Given the description of an element on the screen output the (x, y) to click on. 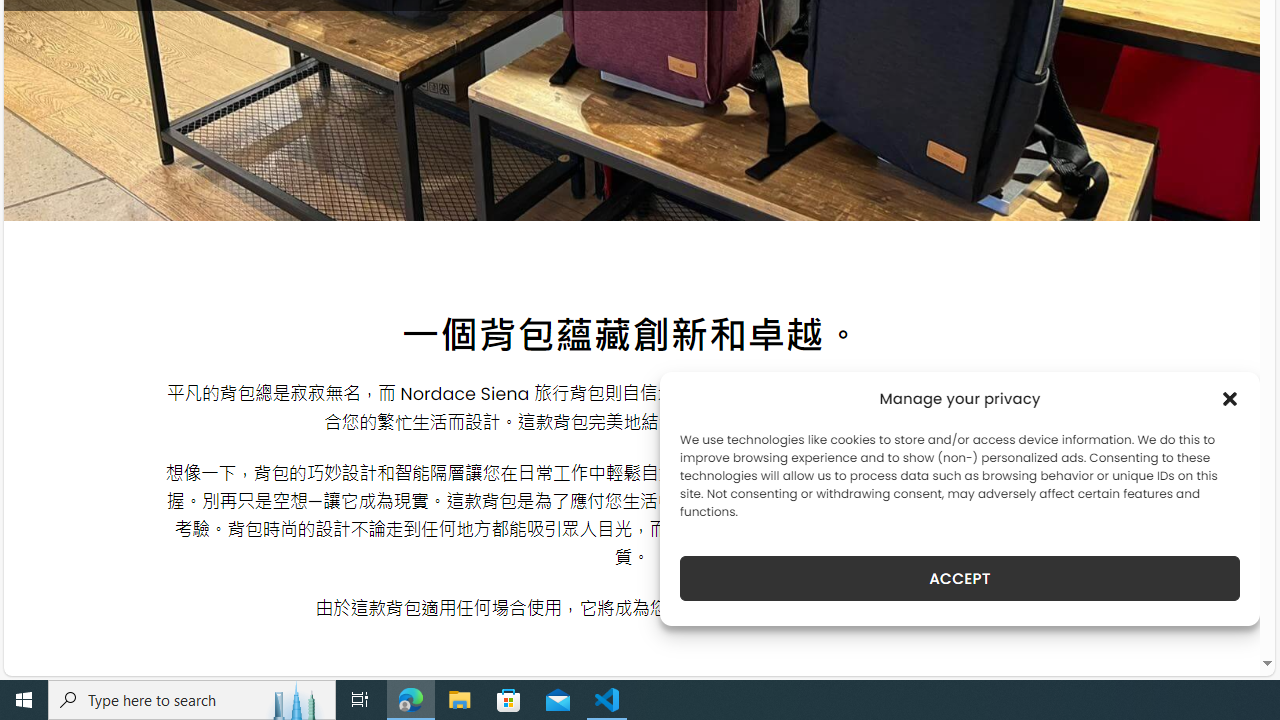
Class: cmplz-close (1229, 398)
ACCEPT (959, 578)
